Given the description of an element on the screen output the (x, y) to click on. 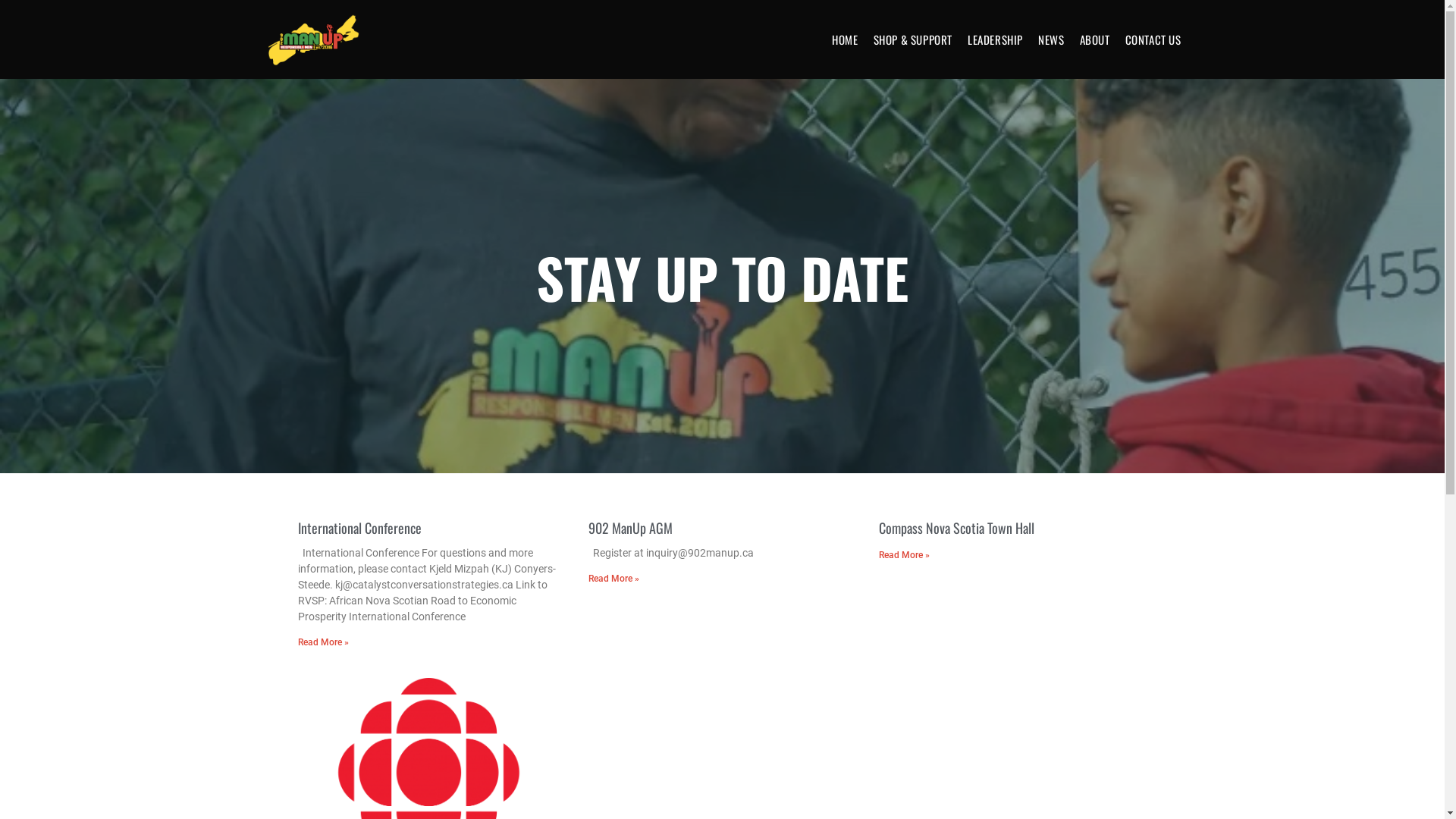
CONTACT US Element type: text (1153, 39)
NEWS Element type: text (1050, 39)
902 ManUp AGM Element type: text (630, 527)
SHOP & SUPPORT Element type: text (913, 39)
LEADERSHIP Element type: text (995, 39)
International Conference Element type: text (358, 527)
ABOUT Element type: text (1094, 39)
HOME Element type: text (844, 39)
Compass Nova Scotia Town Hall Element type: text (956, 527)
